Given the description of an element on the screen output the (x, y) to click on. 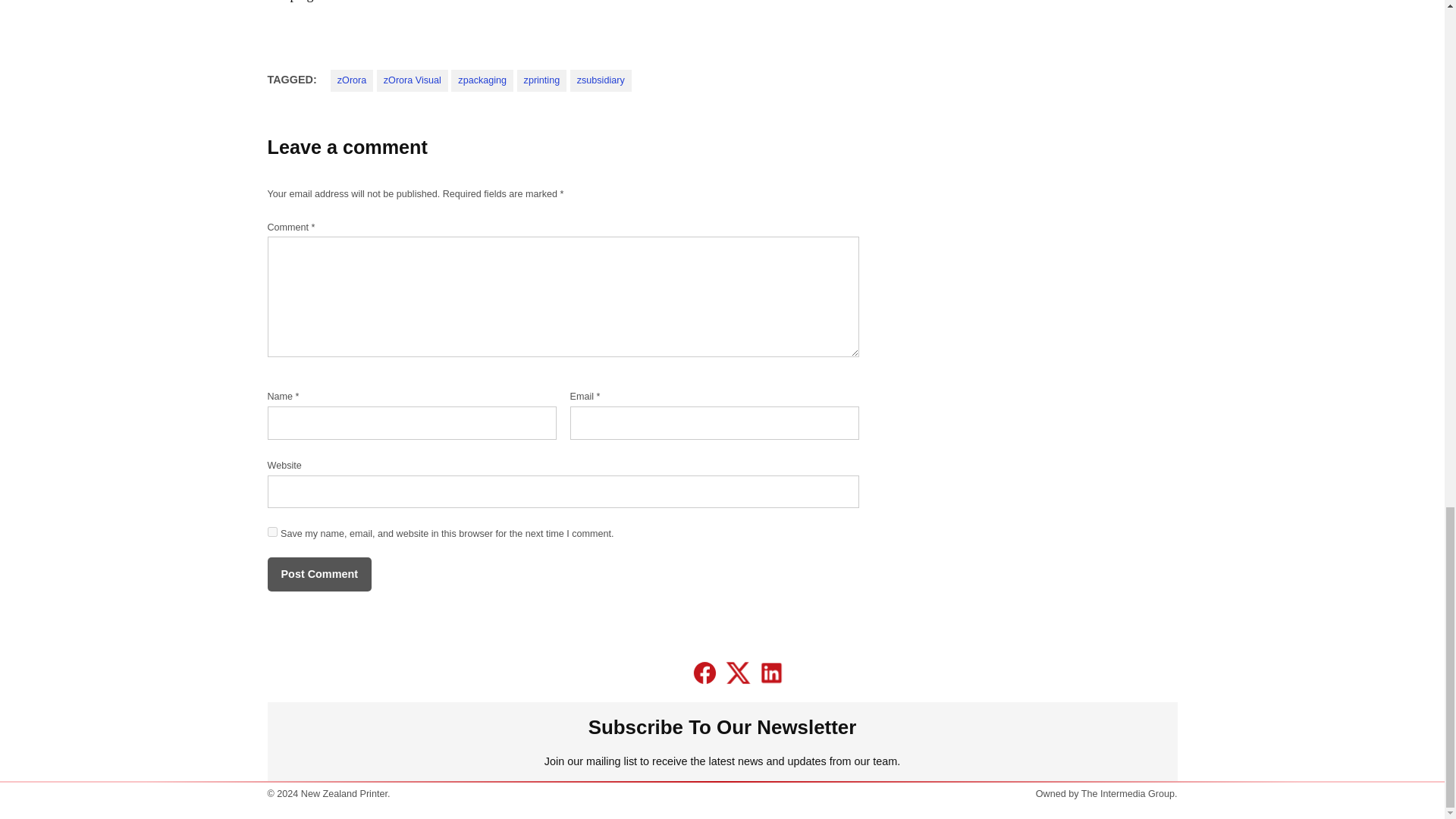
Post Comment (318, 574)
zprinting (541, 80)
yes (271, 532)
zOrora Visual (412, 80)
zOrora (352, 80)
zpackaging (482, 80)
Post Comment (318, 574)
zsubsidiary (600, 80)
